Given the description of an element on the screen output the (x, y) to click on. 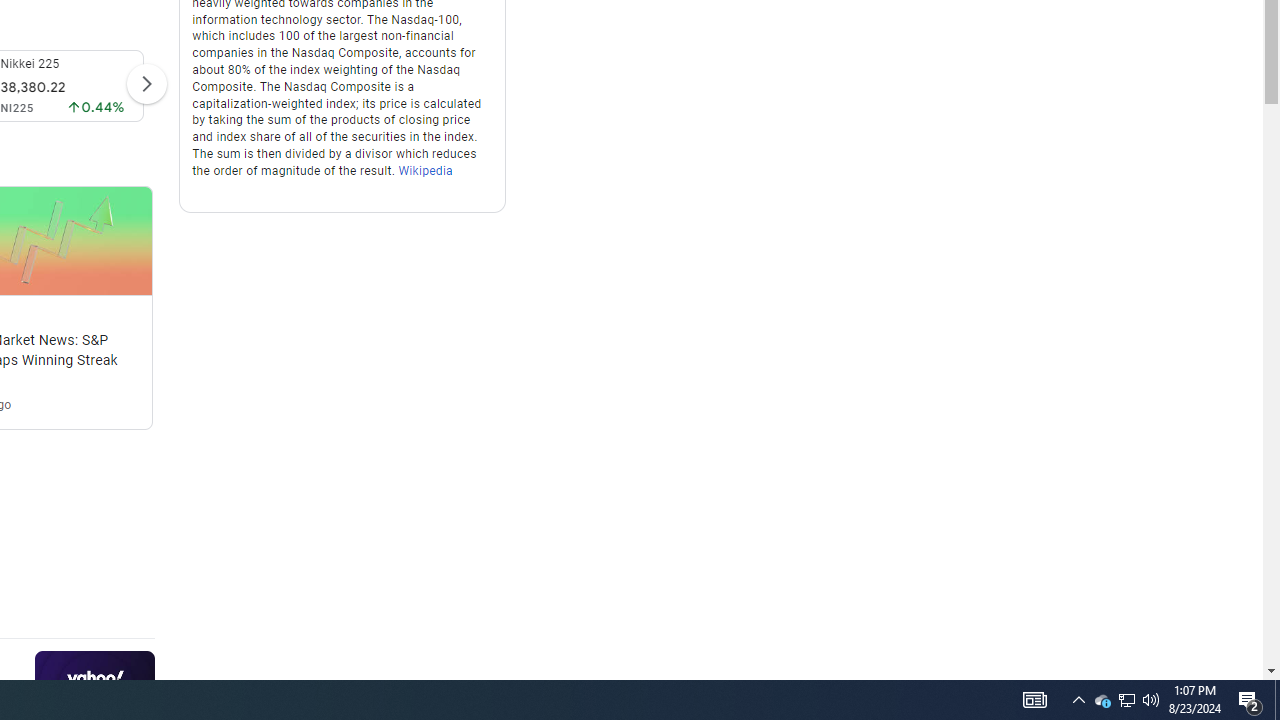
Wikipedia (425, 169)
